Given the description of an element on the screen output the (x, y) to click on. 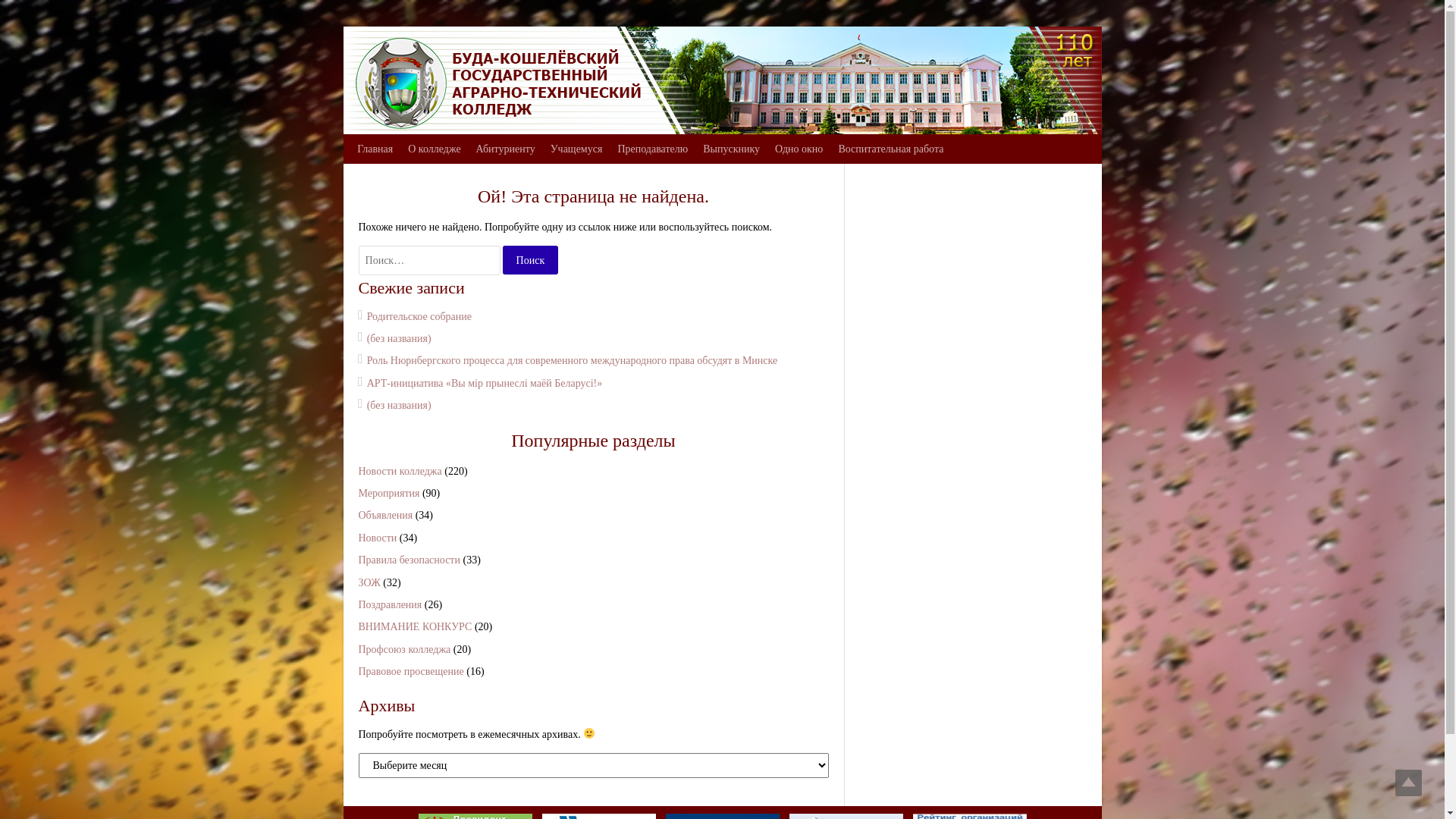
Top Element type: text (1408, 782)
